Given the description of an element on the screen output the (x, y) to click on. 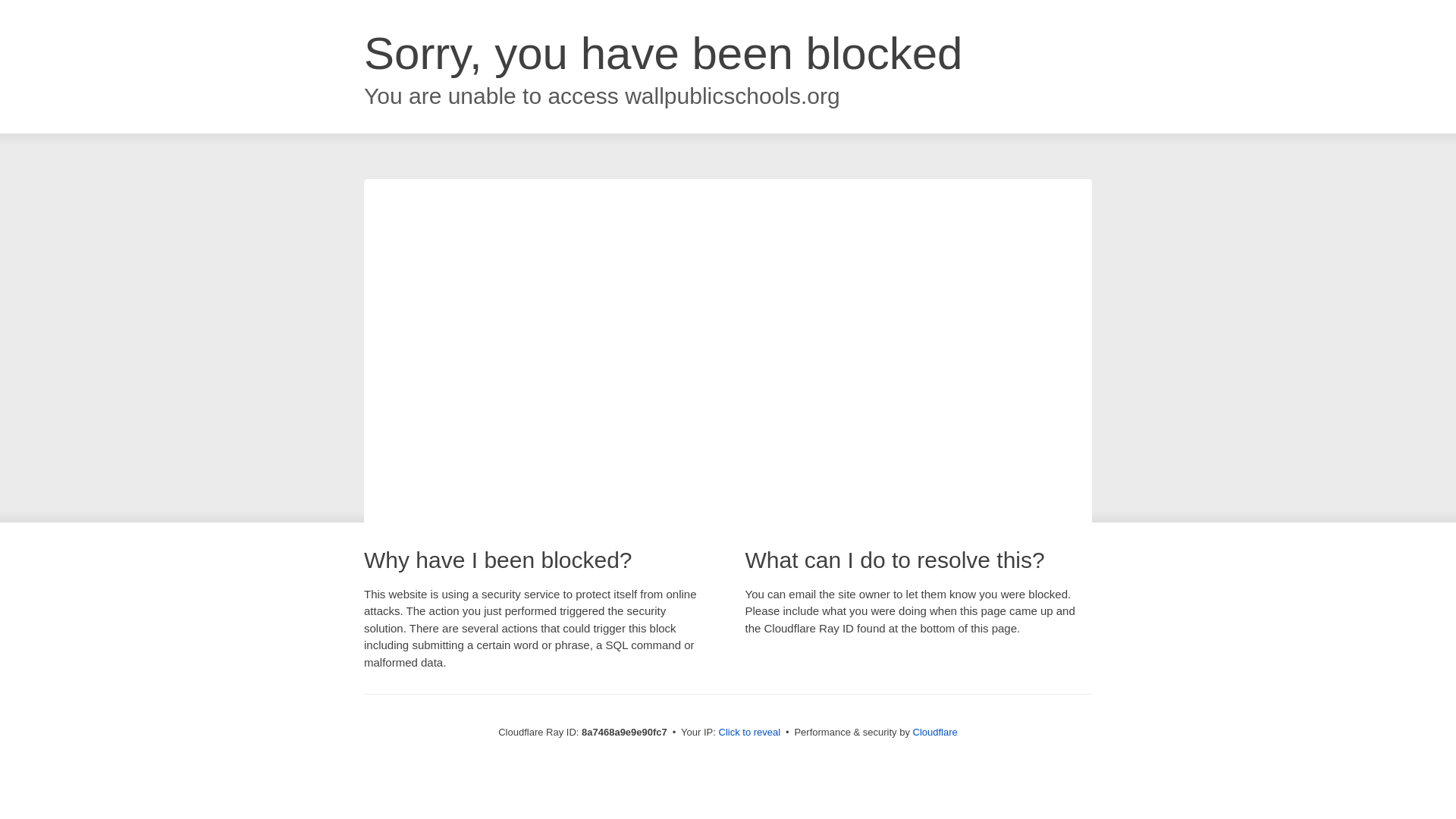
Cloudflare (935, 731)
Click to reveal (749, 732)
